Given the description of an element on the screen output the (x, y) to click on. 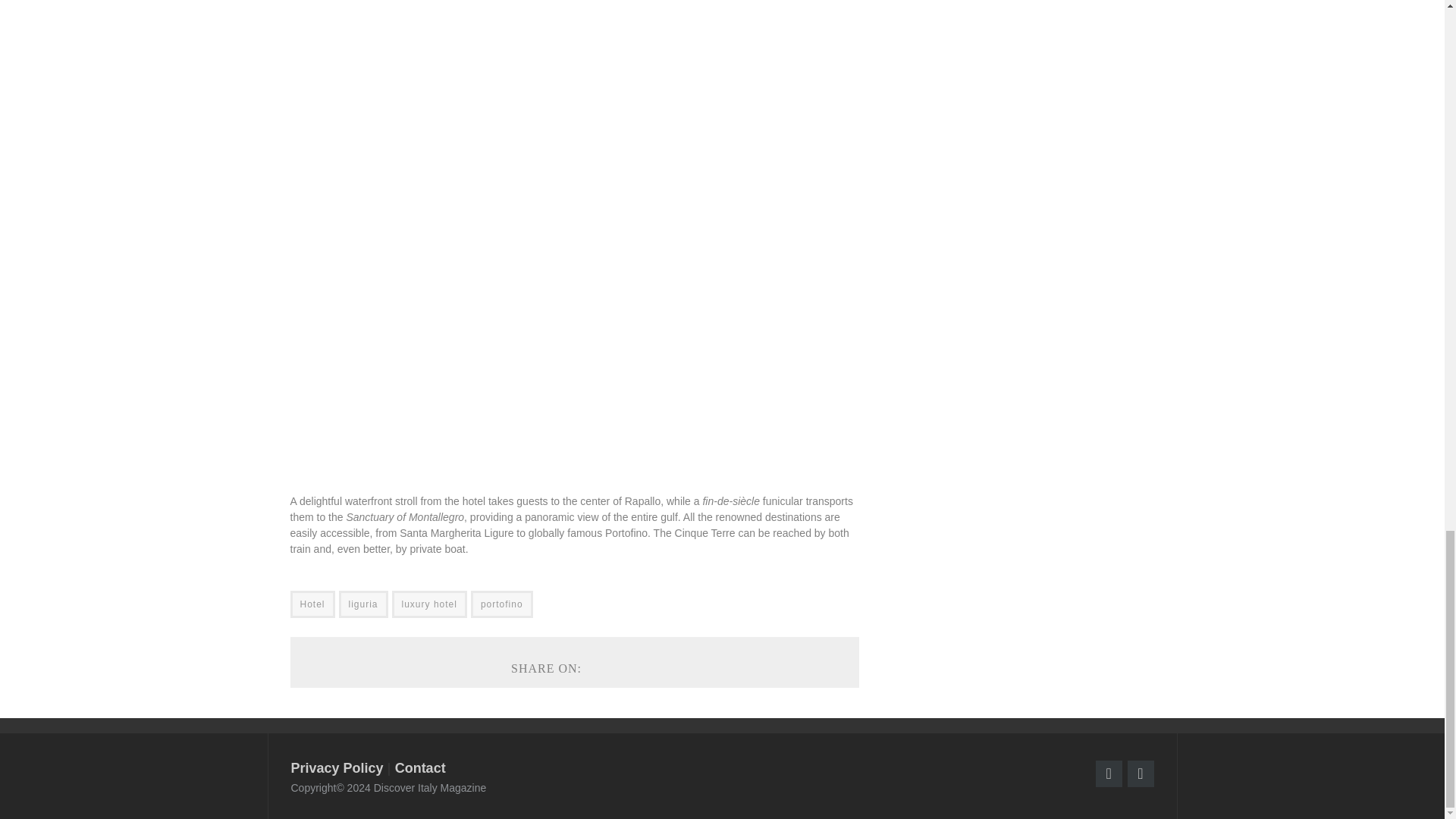
luxury hotel (429, 603)
Hotel (311, 603)
Contact (419, 767)
portofino (501, 603)
liguria (363, 603)
Privacy Policy (337, 767)
